Given the description of an element on the screen output the (x, y) to click on. 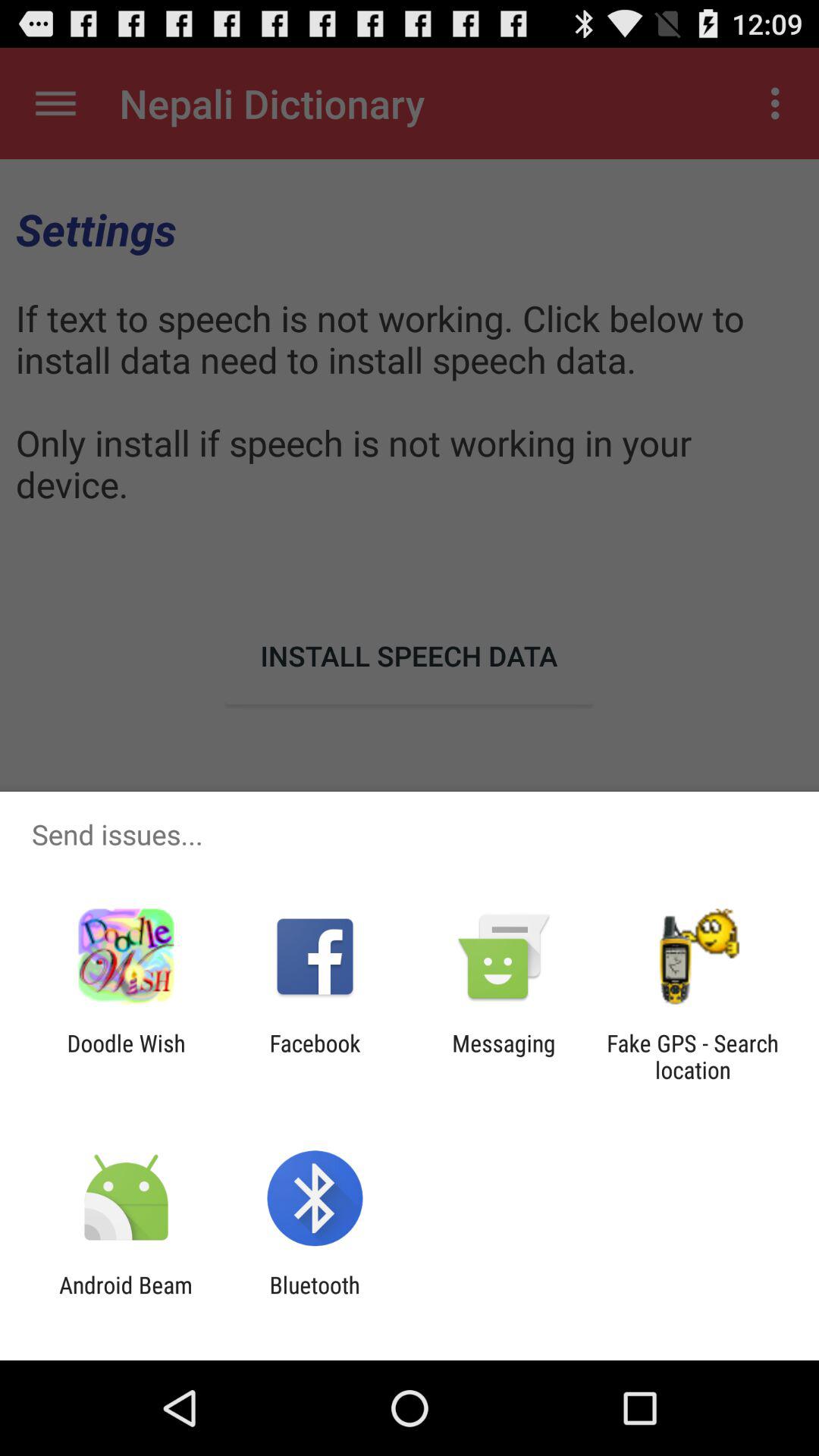
tap the icon next to doodle wish item (314, 1056)
